Given the description of an element on the screen output the (x, y) to click on. 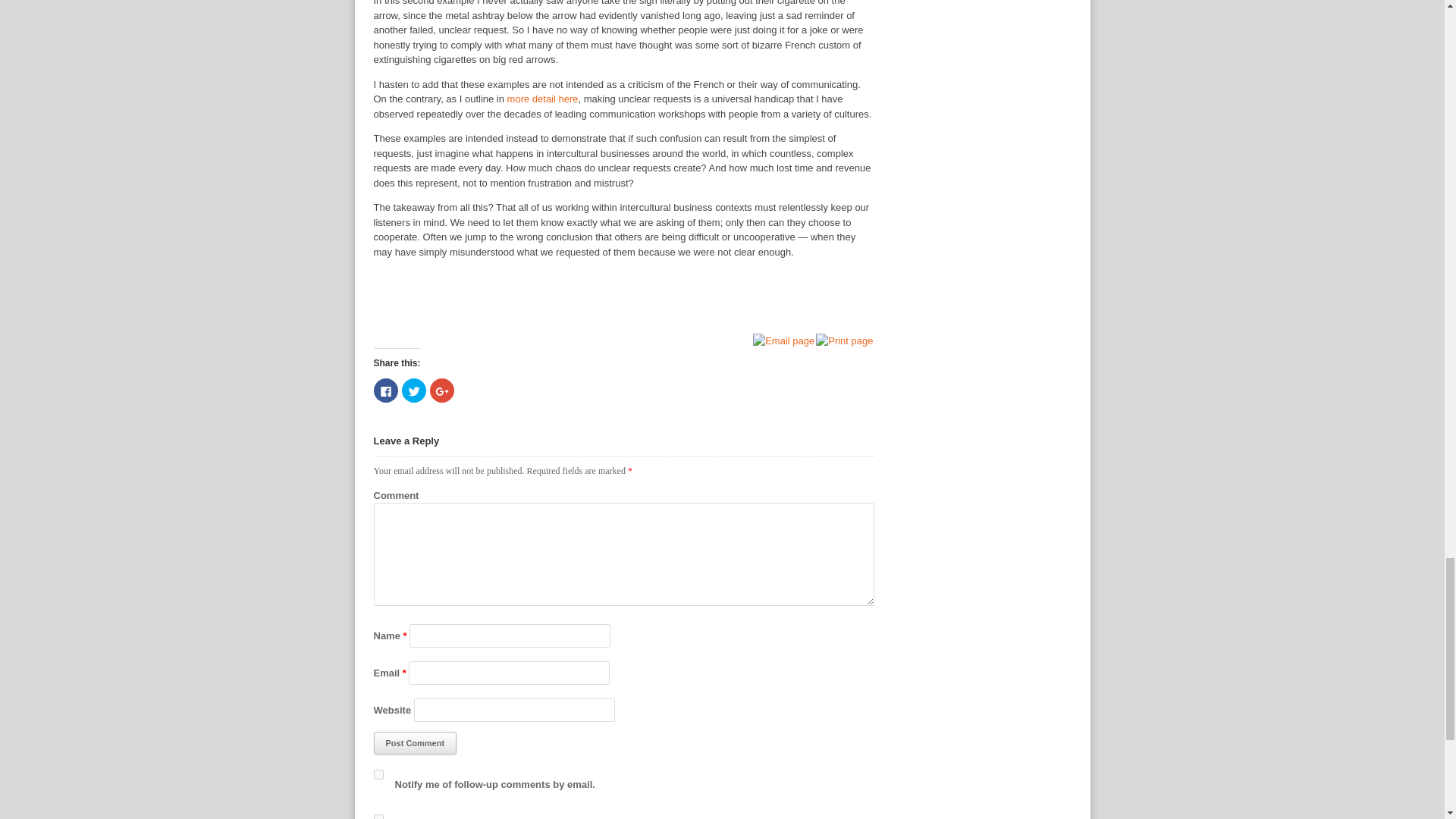
Post Comment (414, 743)
Click to share on Twitter (413, 390)
Click to share on Facebook (384, 390)
Post Comment (414, 743)
Email page (783, 340)
more detail here (542, 98)
subscribe (377, 816)
Print page (844, 340)
subscribe (377, 774)
